Given the description of an element on the screen output the (x, y) to click on. 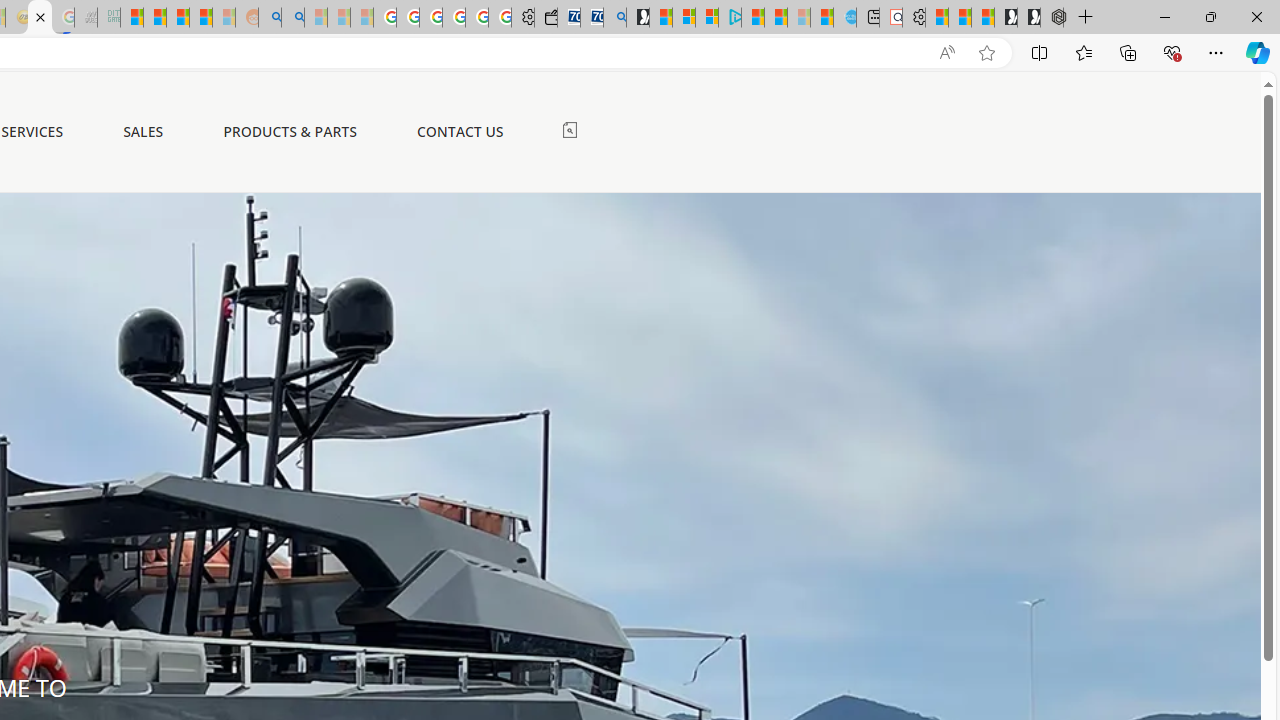
CONTACT US (459, 131)
SALES (143, 132)
SALES (143, 131)
